Given the description of an element on the screen output the (x, y) to click on. 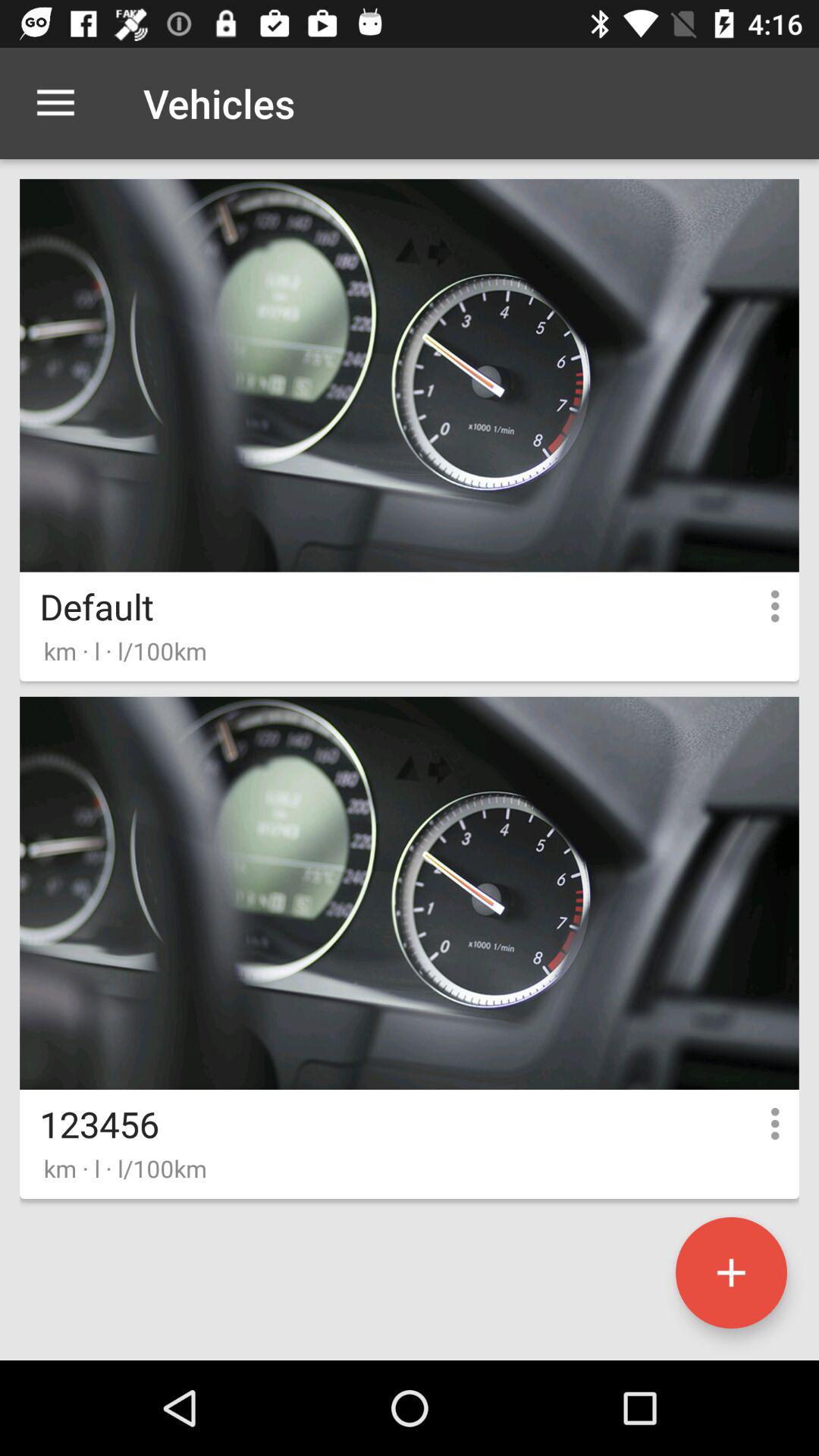
it is used to add some more data (731, 1272)
